Given the description of an element on the screen output the (x, y) to click on. 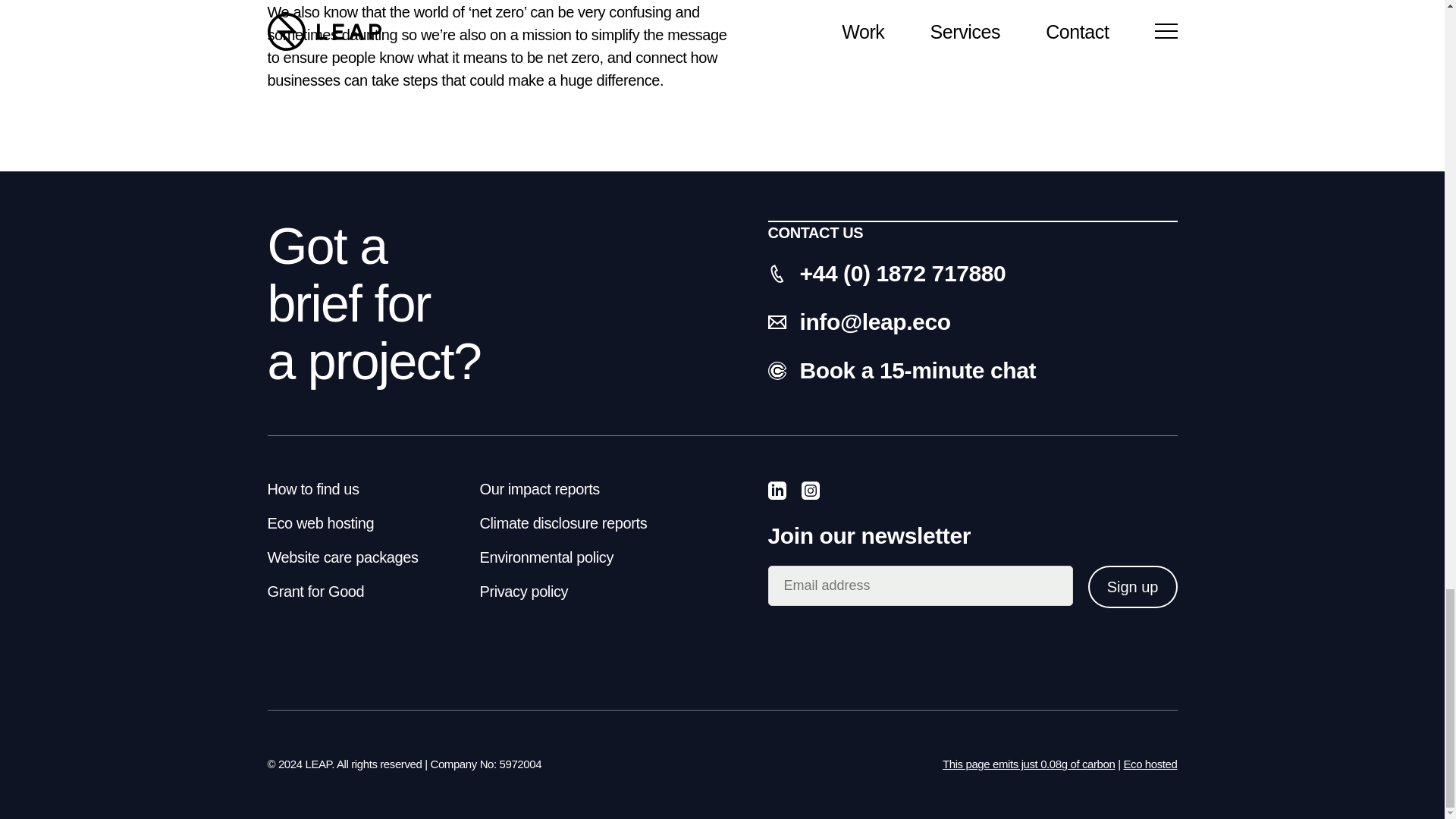
Our impact reports (538, 488)
Climate disclosure reports (562, 523)
Leap on Instagram (809, 494)
Leap on LinkedIn (776, 494)
How to find us (312, 488)
Book a 15-minute chat (971, 369)
Environmental policy (545, 556)
Grant for Good (315, 591)
Website care packages (341, 556)
Sign up (1132, 586)
